Given the description of an element on the screen output the (x, y) to click on. 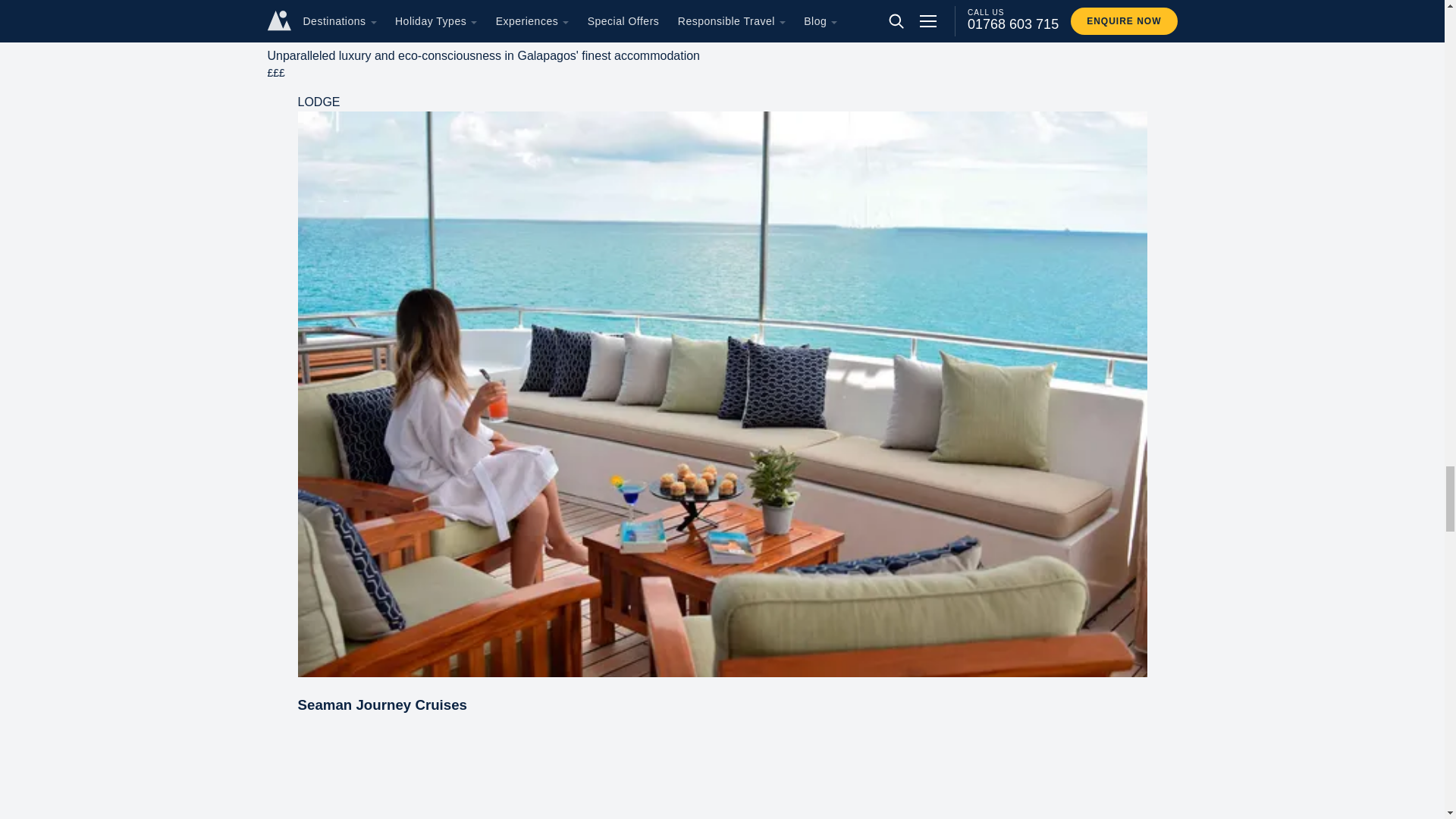
Galapagos Holidays, South America Holidays (722, 17)
